Given the description of an element on the screen output the (x, y) to click on. 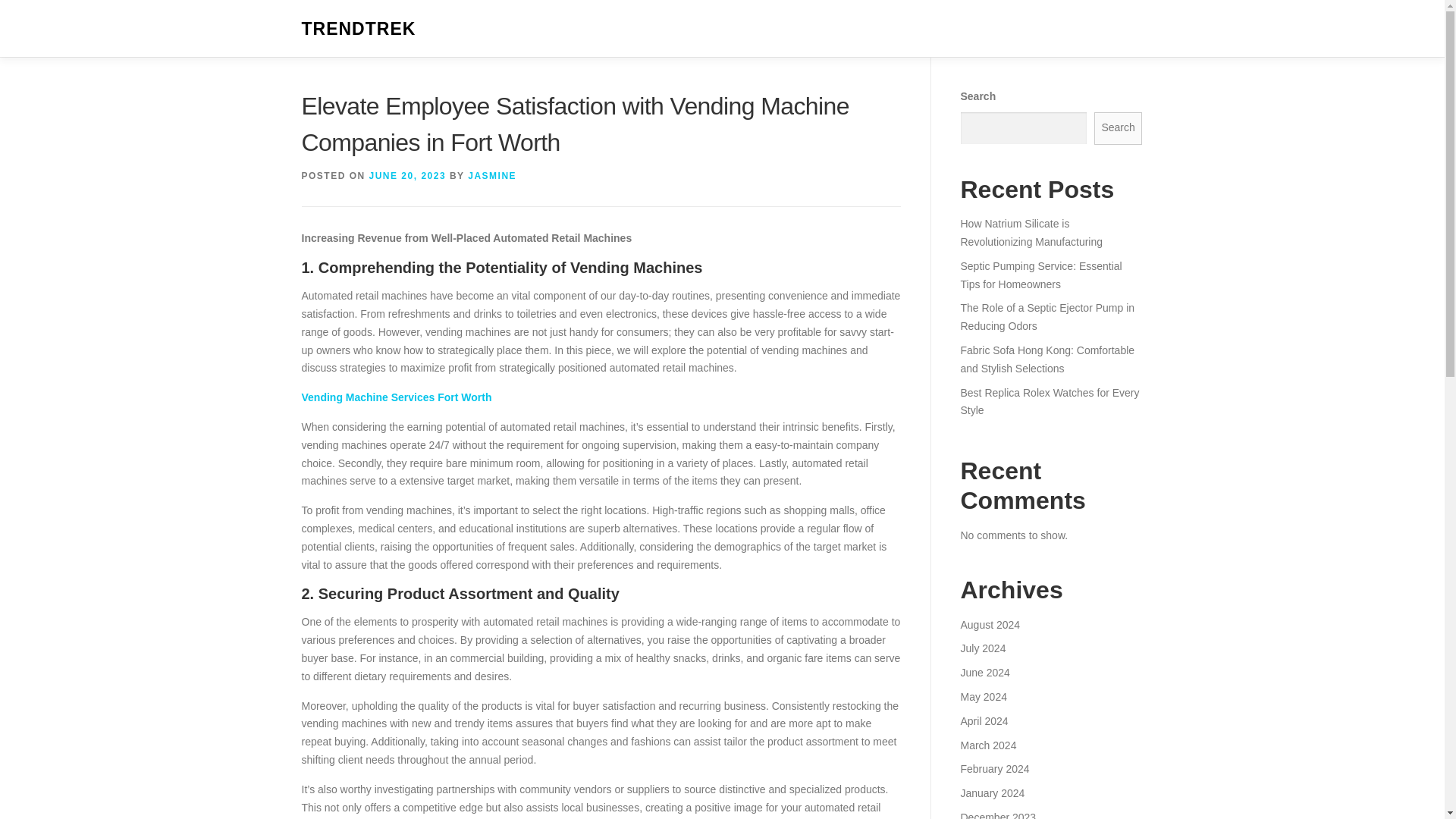
TRENDTREK (358, 29)
Search (1118, 128)
Septic Pumping Service: Essential Tips for Homeowners (1040, 275)
Vending Machine Services Fort Worth (396, 397)
February 2024 (994, 768)
The Role of a Septic Ejector Pump in Reducing Odors (1046, 317)
How Natrium Silicate is Revolutionizing Manufacturing (1030, 232)
December 2023 (997, 815)
January 2024 (992, 793)
Fabric Sofa Hong Kong: Comfortable and Stylish Selections (1046, 358)
